Given the description of an element on the screen output the (x, y) to click on. 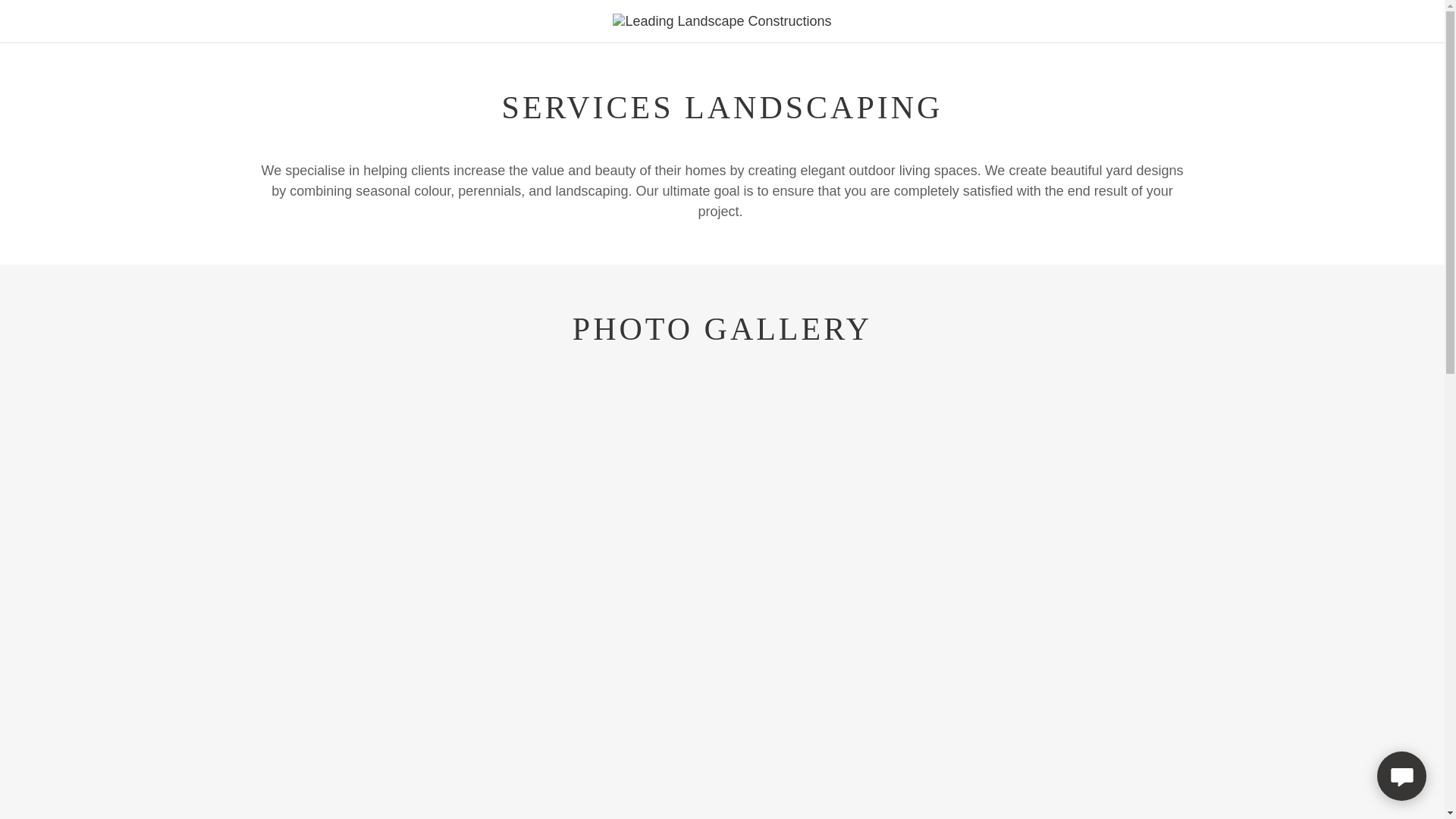
Leading Landscape Constructions Element type: hover (721, 20)
